Given the description of an element on the screen output the (x, y) to click on. 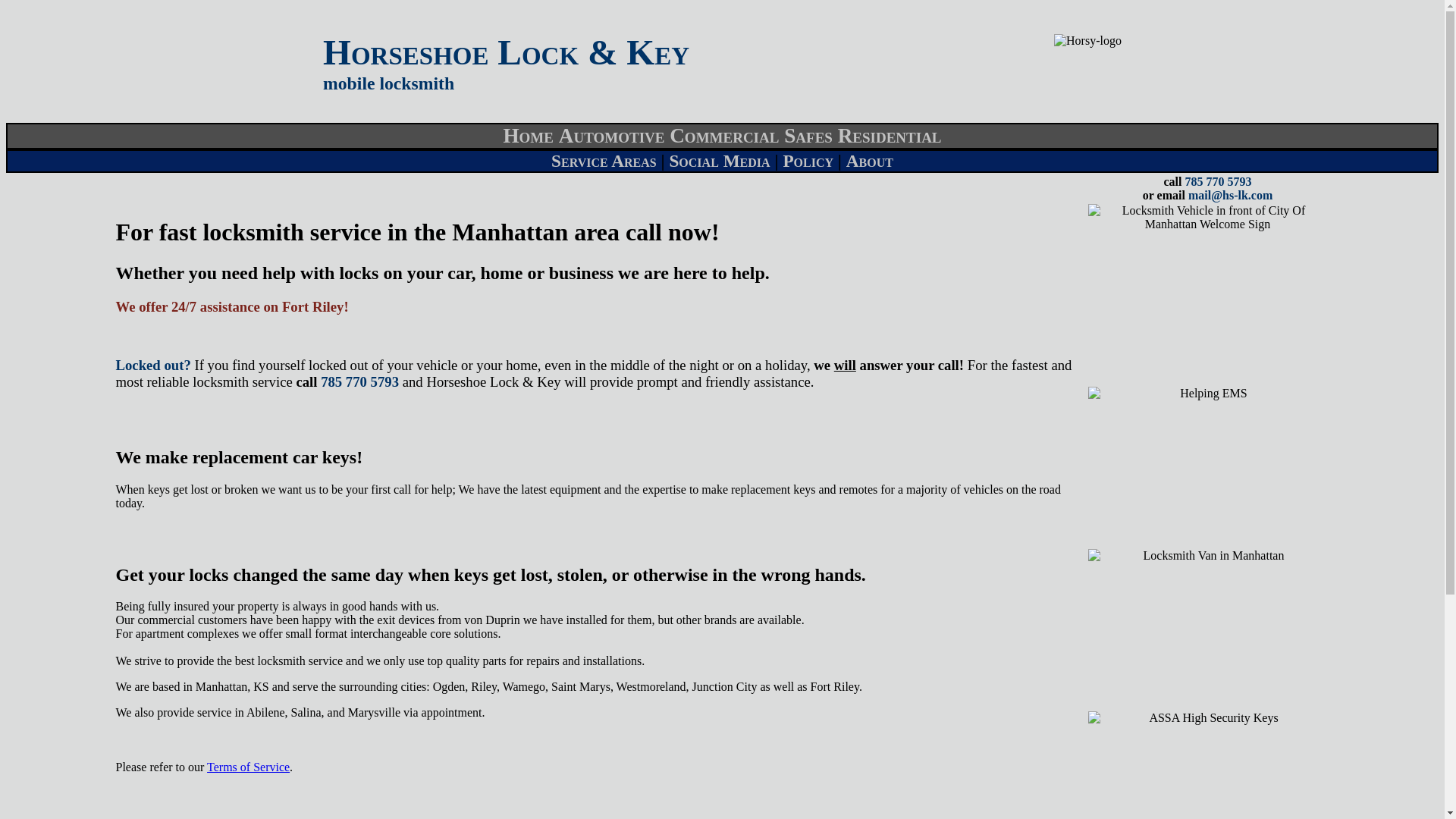
Policy (807, 160)
Automotive (612, 135)
Home (527, 135)
Safes (808, 135)
Terms of Service (247, 766)
785 770 5793 (359, 381)
Social Media (719, 160)
Commercial (723, 135)
785 770 5793 (1217, 181)
Service Areas (603, 160)
About (869, 160)
Residential (890, 135)
